Given the description of an element on the screen output the (x, y) to click on. 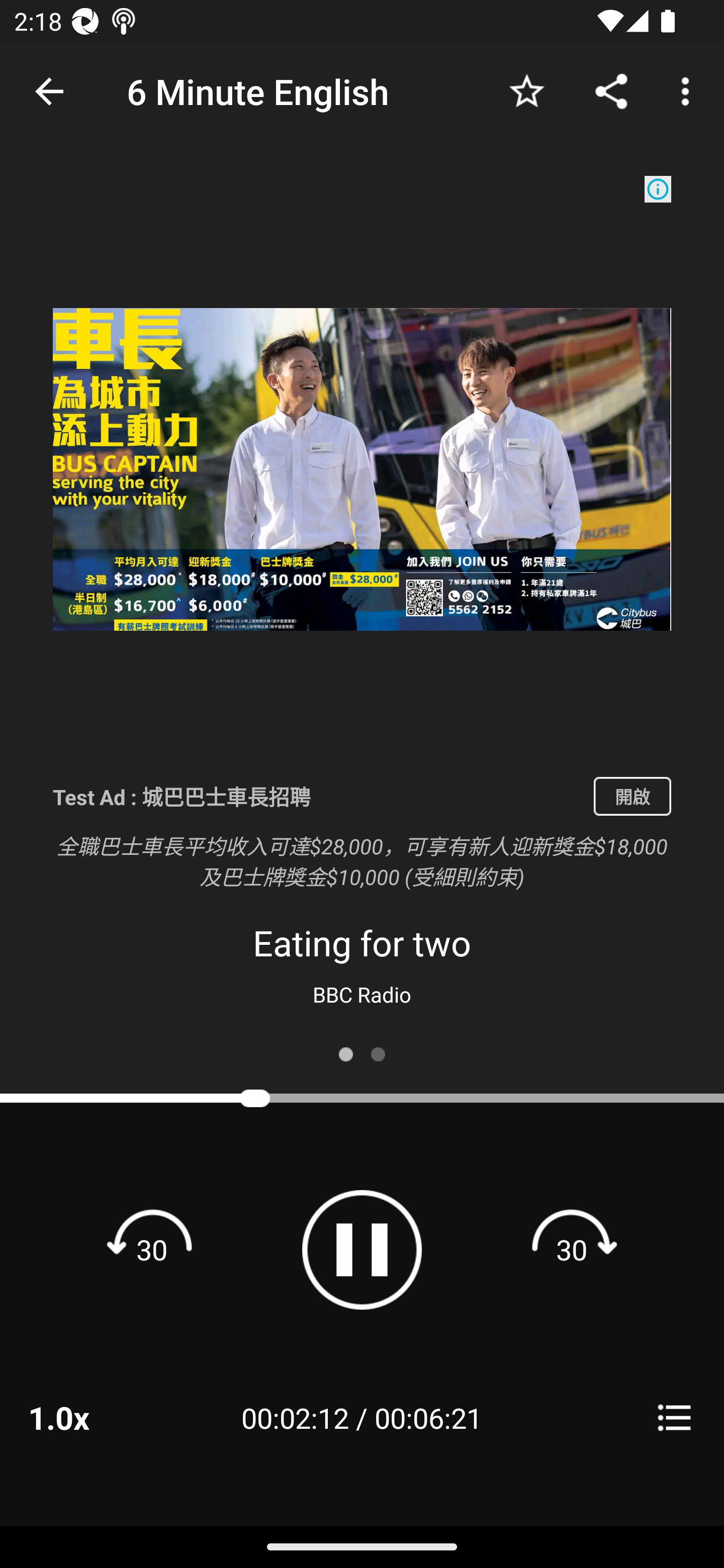
Navigate up (49, 91)
Add to Favorites (526, 90)
Share... (611, 90)
More options (688, 90)
Ad Choices Icon (657, 188)
開啟 (632, 796)
Test Ad : 城巴巴士車長招聘 (315, 796)
BBC Radio (361, 994)
Pause (361, 1249)
Rewind (151, 1249)
Fast forward (571, 1249)
1.0x Playback Speeds (84, 1417)
00:06:21 (428, 1417)
